Given the description of an element on the screen output the (x, y) to click on. 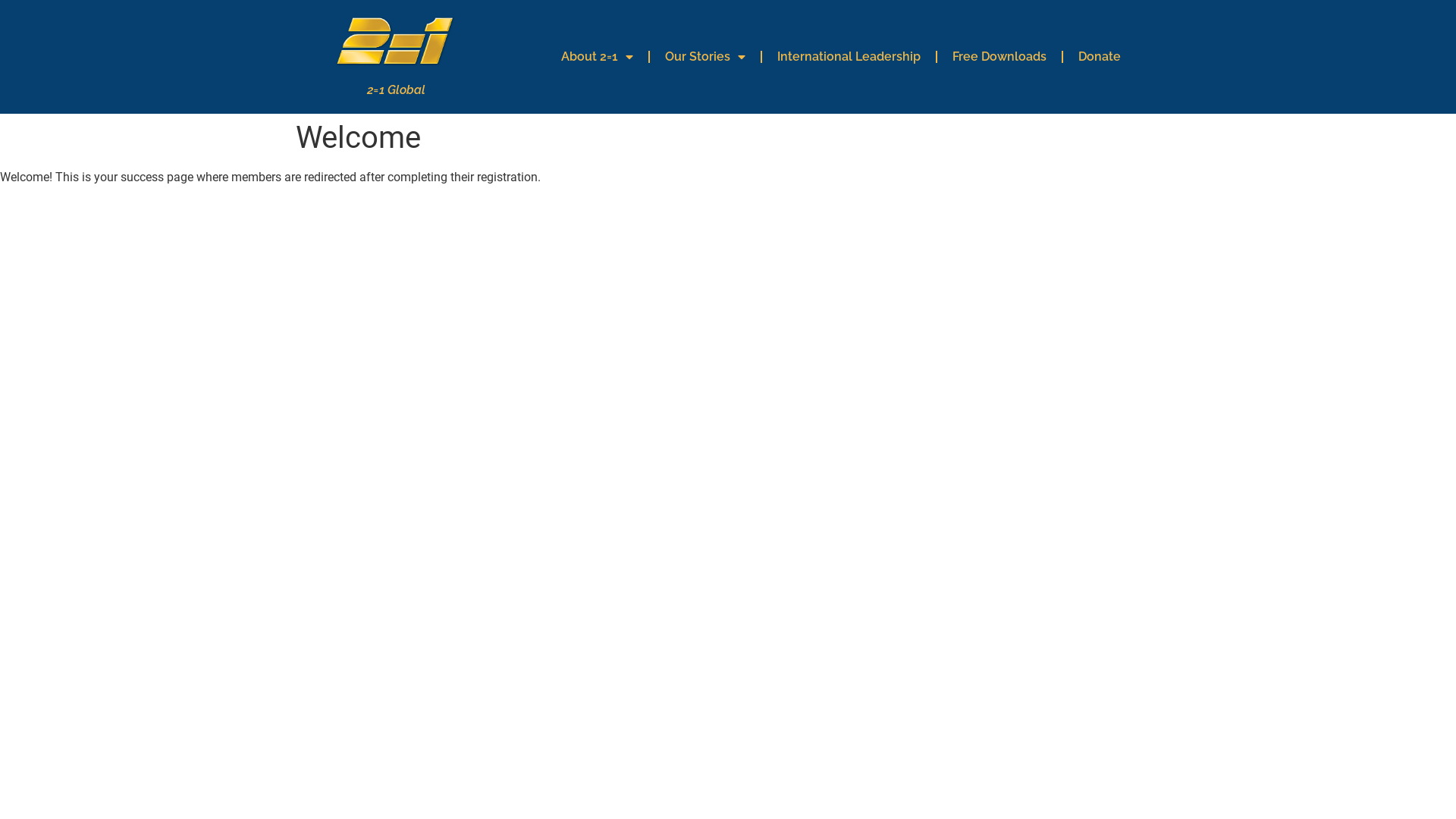
International Leadership Element type: text (848, 56)
Our Stories Element type: text (704, 56)
Donate Element type: text (1099, 56)
About 2=1 Element type: text (597, 56)
Free Downloads Element type: text (999, 56)
